Given the description of an element on the screen output the (x, y) to click on. 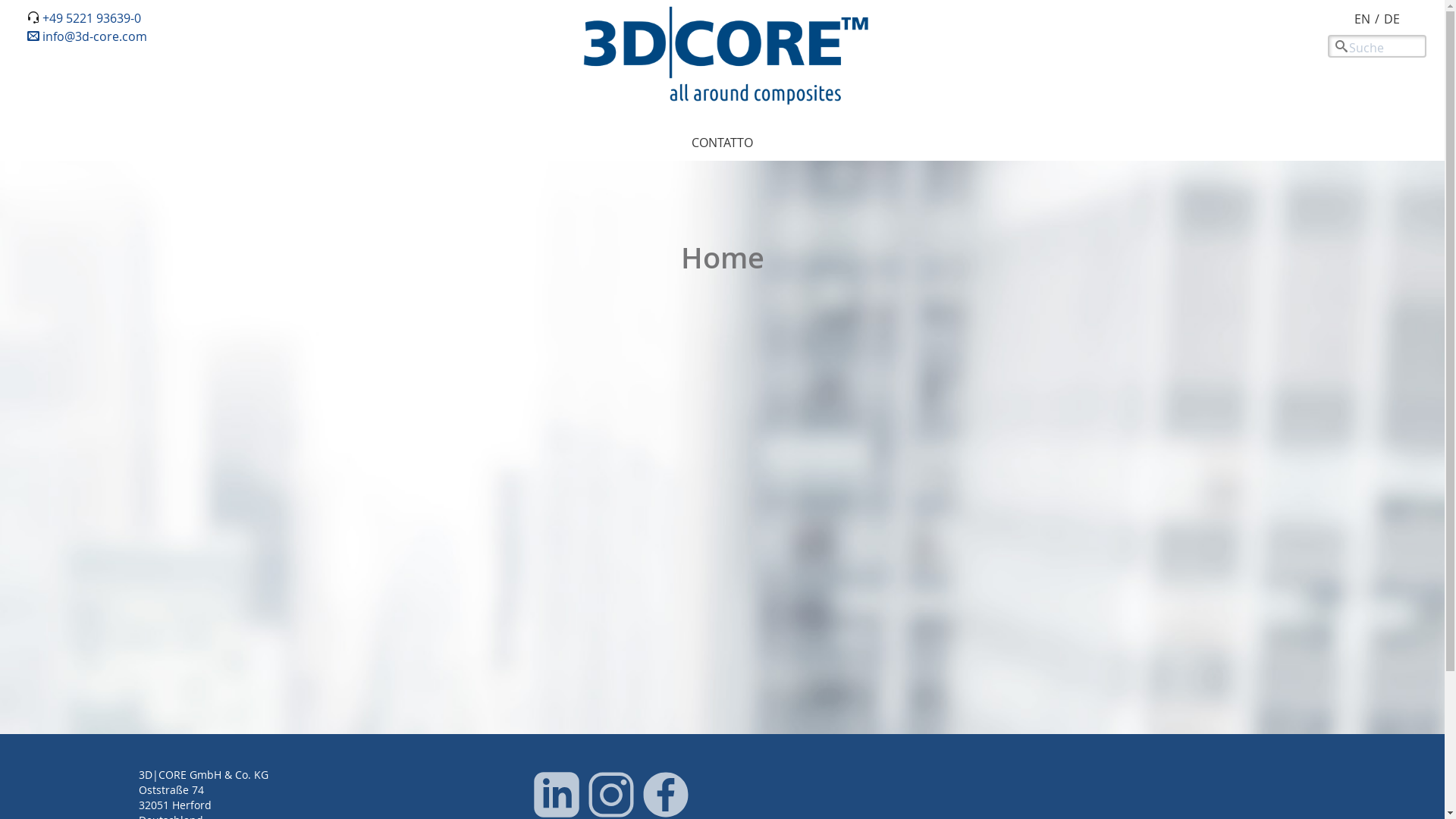
DE Element type: text (1391, 18)
CONTATTO Element type: text (722, 142)
+49 5221 93639-0 Element type: text (91, 17)
EN Element type: text (1361, 18)
info@3d-core.com Element type: text (87, 36)
